Given the description of an element on the screen output the (x, y) to click on. 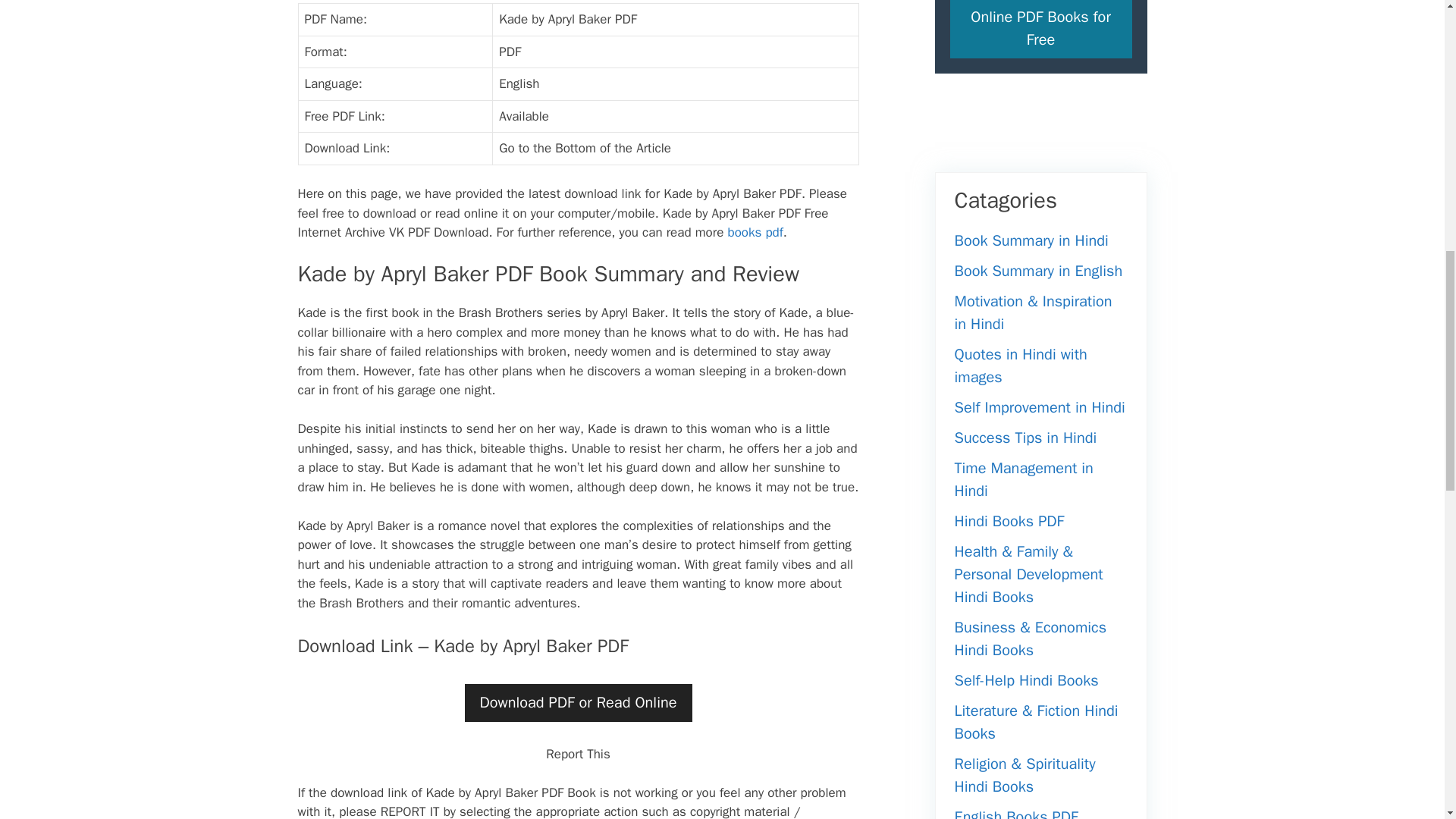
Download PDF or Read Online (577, 702)
Book Summary in Hindi (1030, 240)
Online PDF Books for Free (1040, 29)
Book Summary in English (1037, 270)
books pdf (754, 232)
